Given the description of an element on the screen output the (x, y) to click on. 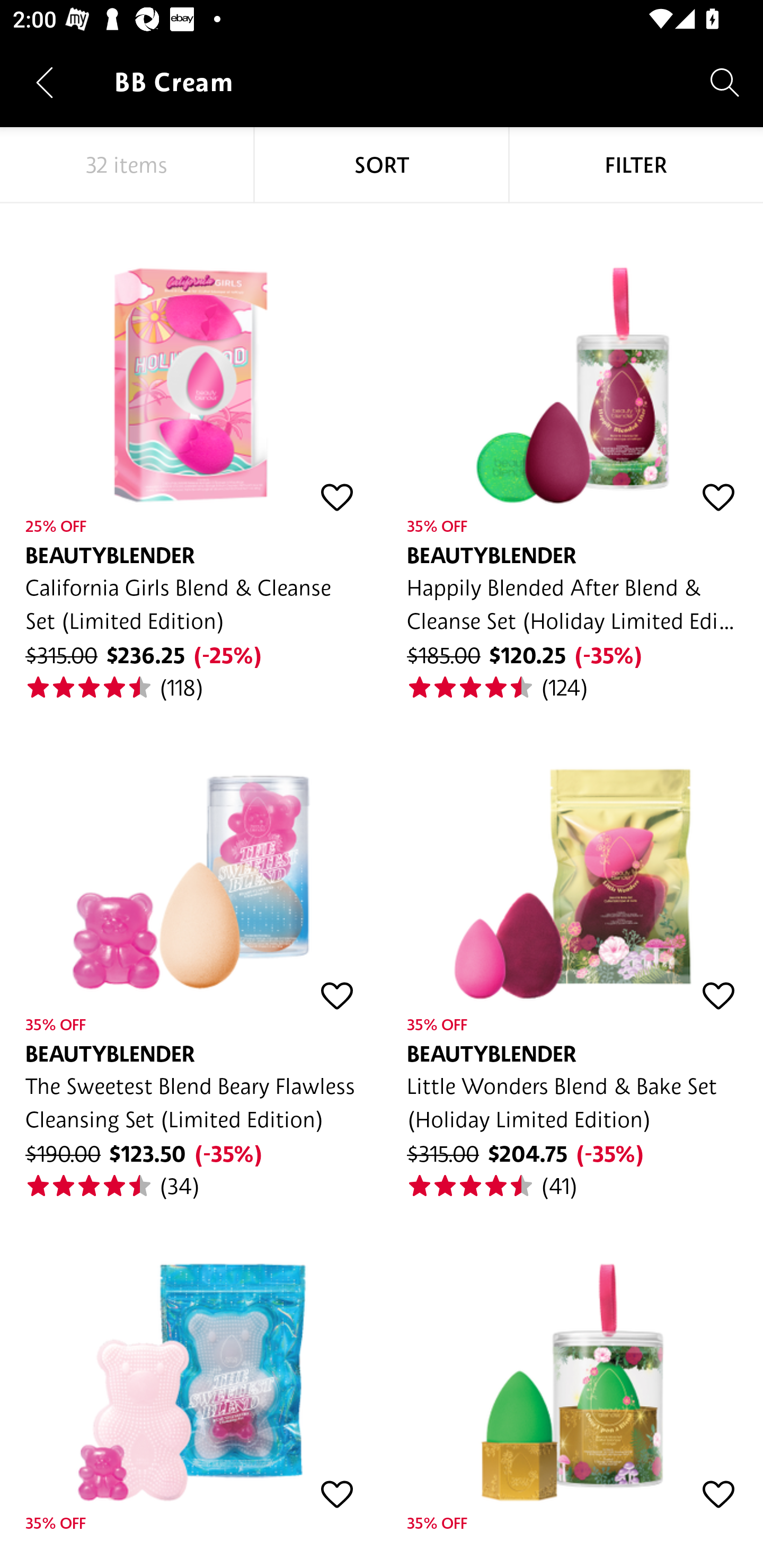
Navigate up (44, 82)
Search (724, 81)
SORT (381, 165)
FILTER (636, 165)
35% OFF BEAUTYBLENDER (190, 1371)
35% OFF BEAUTYBLENDER (571, 1371)
